Given the description of an element on the screen output the (x, y) to click on. 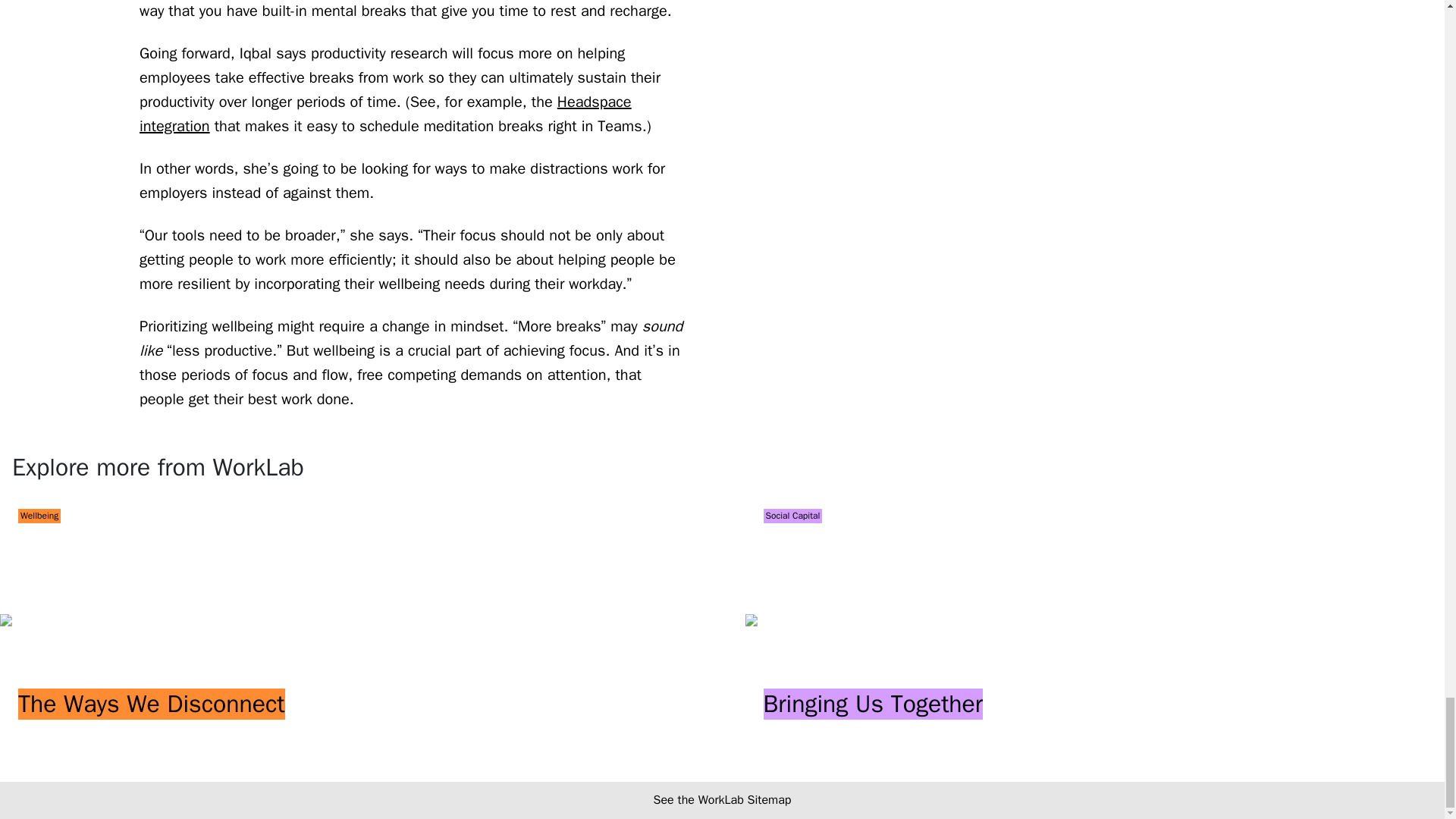
See the WorkLab Sitemap (722, 799)
Headspace integration (385, 113)
